Given the description of an element on the screen output the (x, y) to click on. 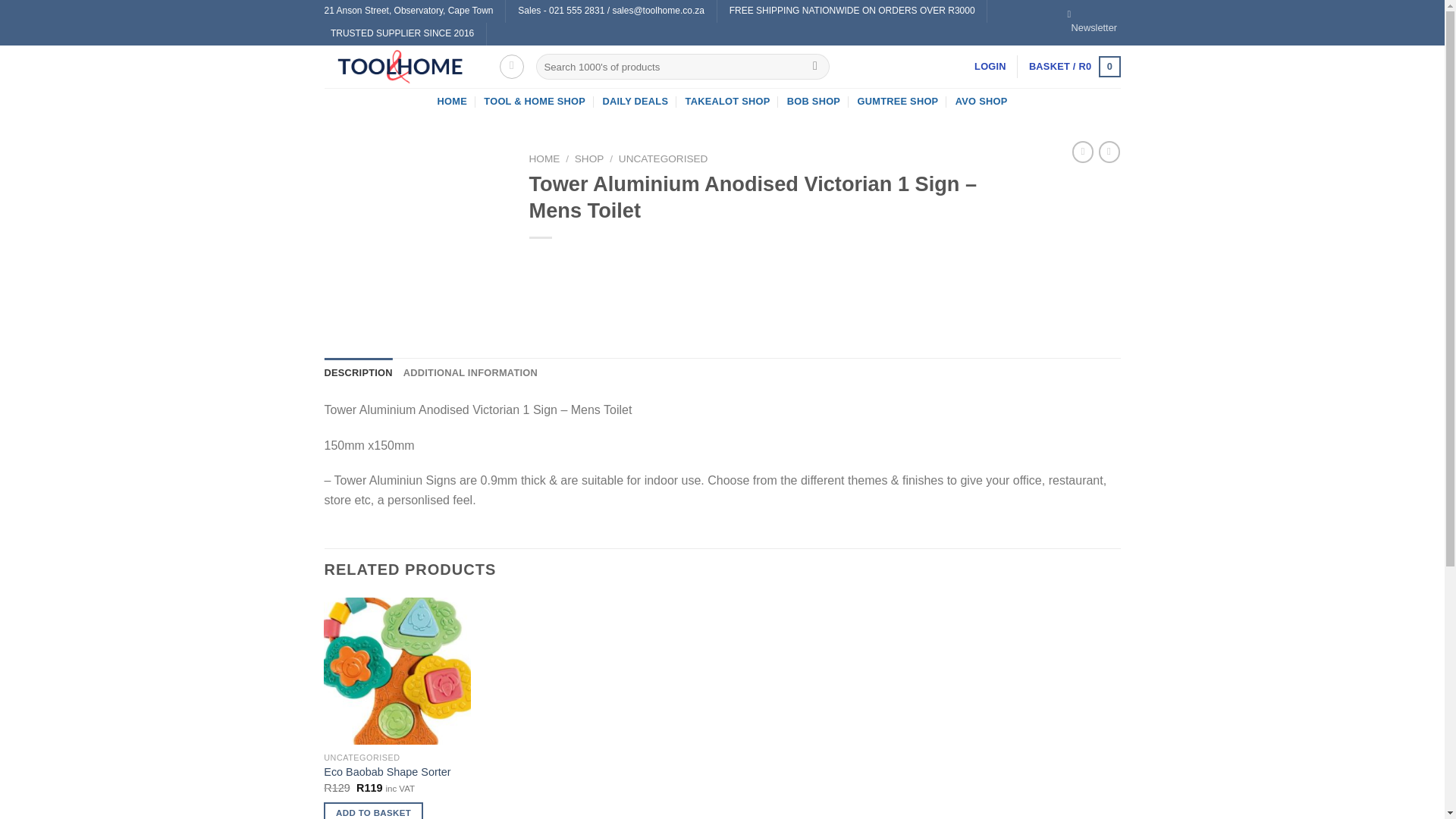
TAKEALOT SHOP (727, 101)
Eco Baobab Shape Sorter (386, 771)
AVO SHOP (981, 101)
Login (990, 66)
HOME (544, 158)
GUMTREE SHOP (898, 101)
DAILY DEALS (635, 101)
LOGIN (990, 66)
DESCRIPTION (358, 372)
BOB SHOP (813, 101)
ADDITIONAL INFORMATION (470, 372)
UNCATEGORISED (662, 158)
Search (815, 66)
Basket (1075, 66)
Sign up for Newsletter (1094, 22)
